Given the description of an element on the screen output the (x, y) to click on. 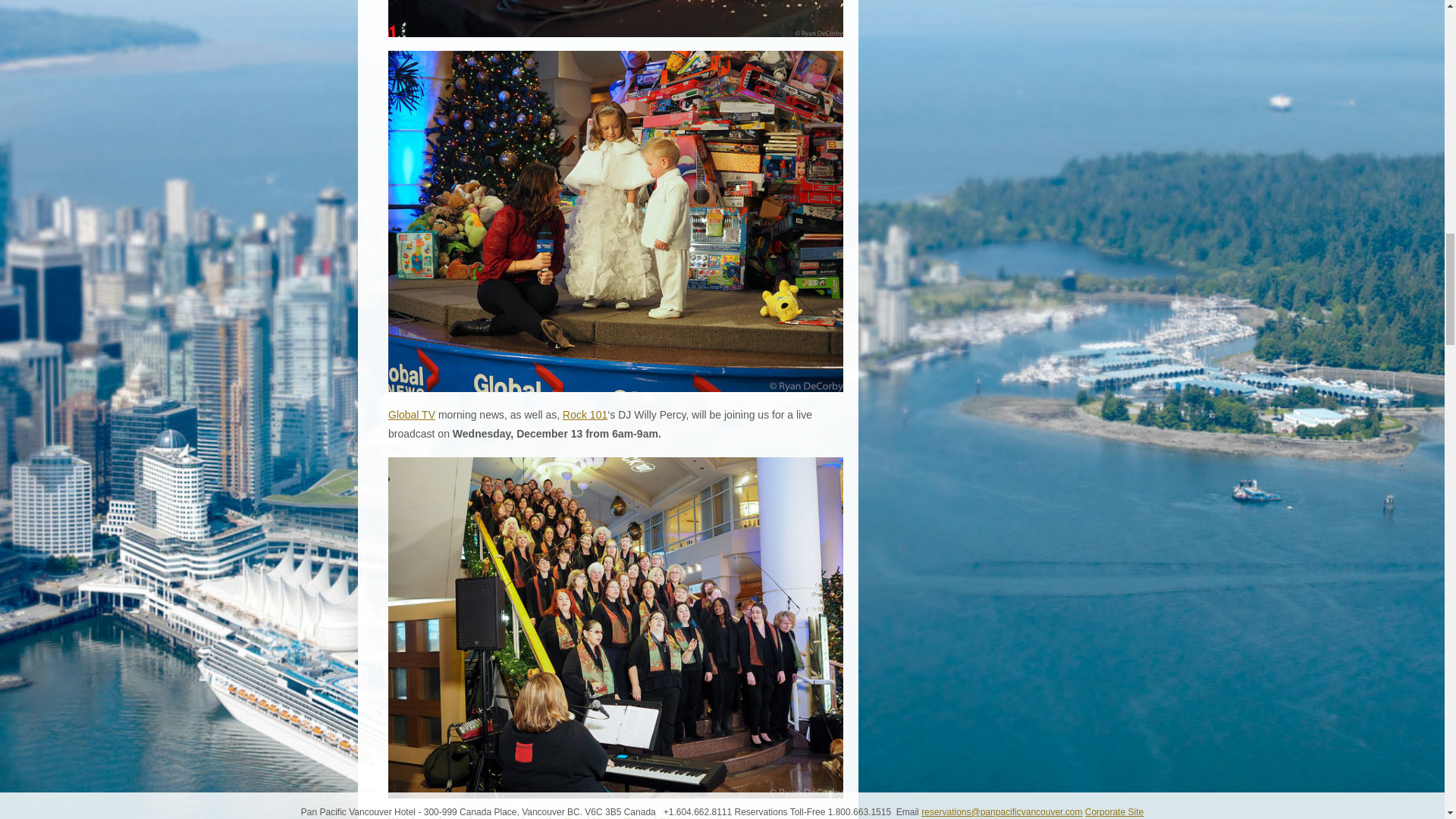
Good Noise Gospel Choir (623, 816)
Rock 101 (584, 414)
Global TV (411, 414)
